Given the description of an element on the screen output the (x, y) to click on. 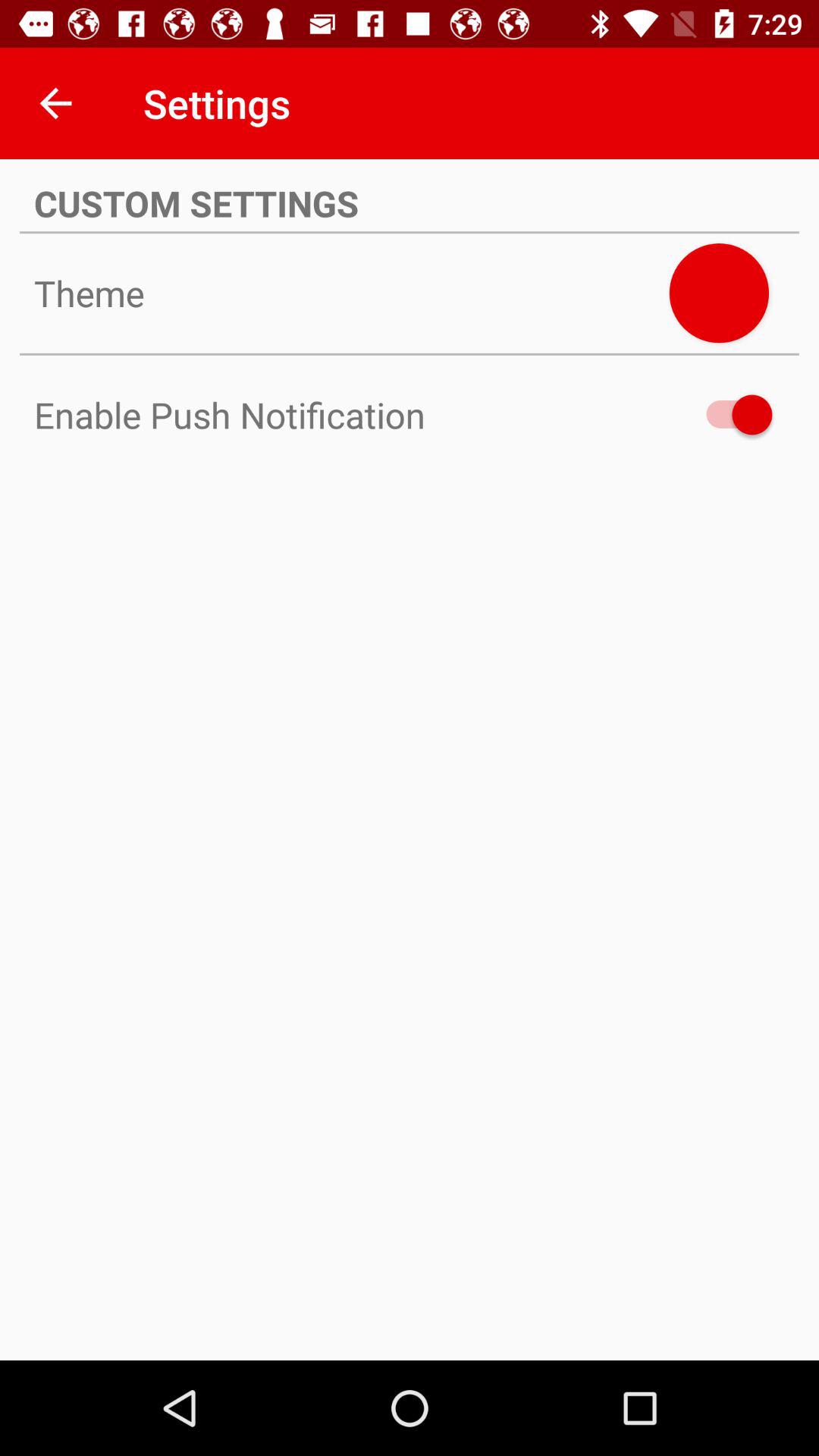
turn on icon to the right of the theme (718, 292)
